Given the description of an element on the screen output the (x, y) to click on. 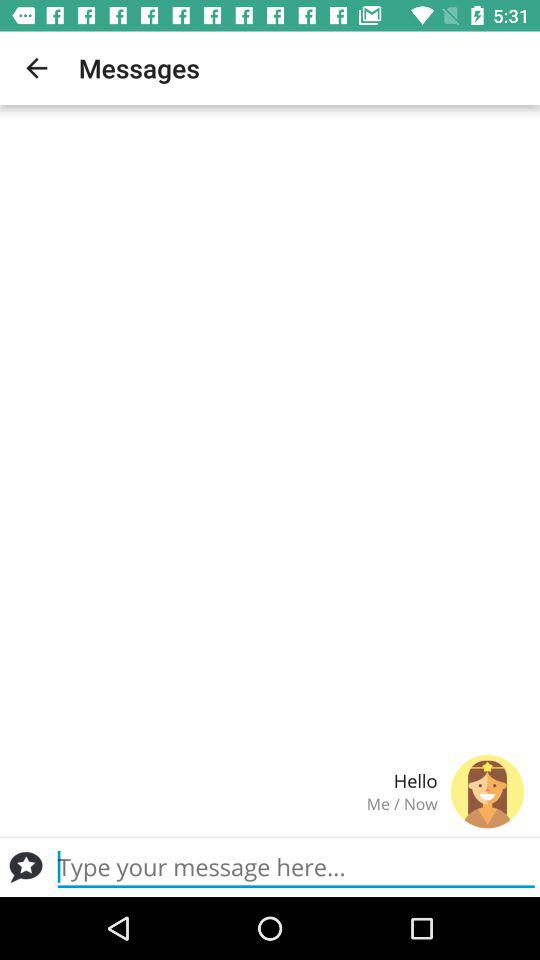
tap the icon next to the hello item (487, 791)
